Given the description of an element on the screen output the (x, y) to click on. 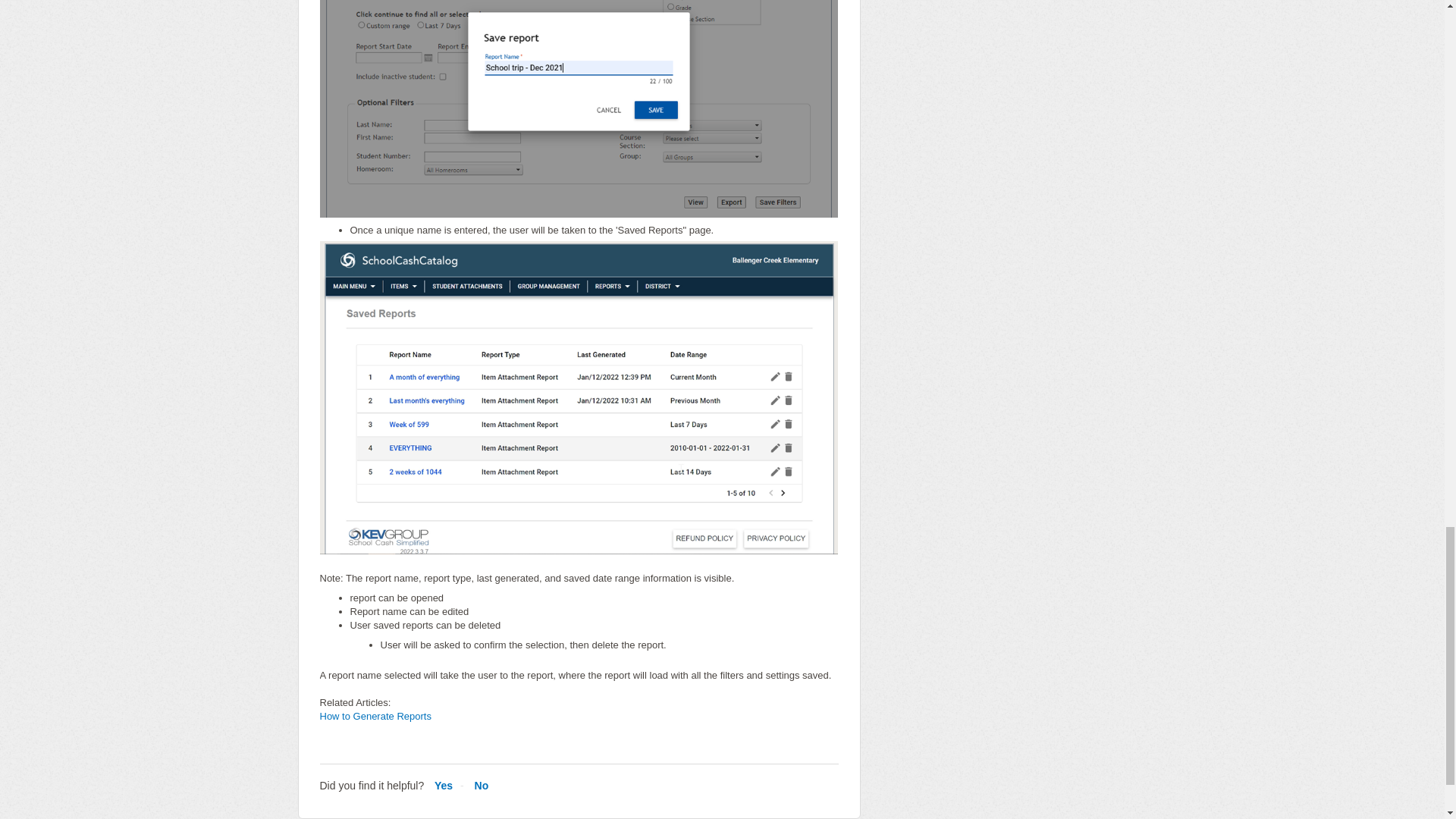
How to Generate Reports (375, 715)
